Given the description of an element on the screen output the (x, y) to click on. 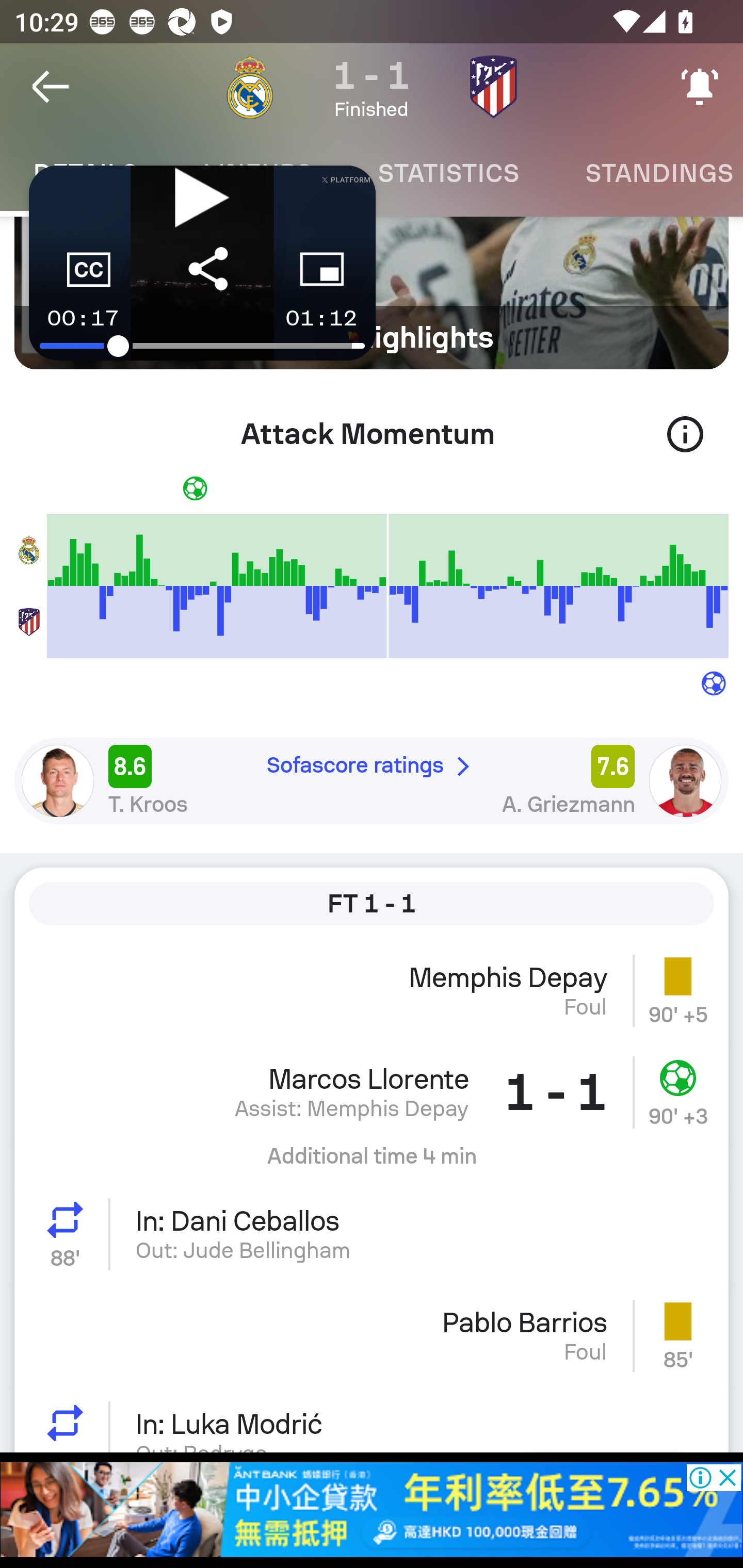
Navigate up (50, 86)
Statistics STATISTICS (448, 173)
Standings STANDINGS (647, 173)
8.6 Sofascore ratings 7.6 T. Kroos A. Griezmann (371, 780)
FT 1 - 1 (371, 903)
Memphis Depay Foul Yellow card 90' +5 (371, 990)
Additional time 4 min (371, 1163)
Pablo Barrios Foul Yellow card 85' (371, 1335)
Substitution In: Luka Modrić 76' Out: Rodrygo (371, 1418)
